Given the description of an element on the screen output the (x, y) to click on. 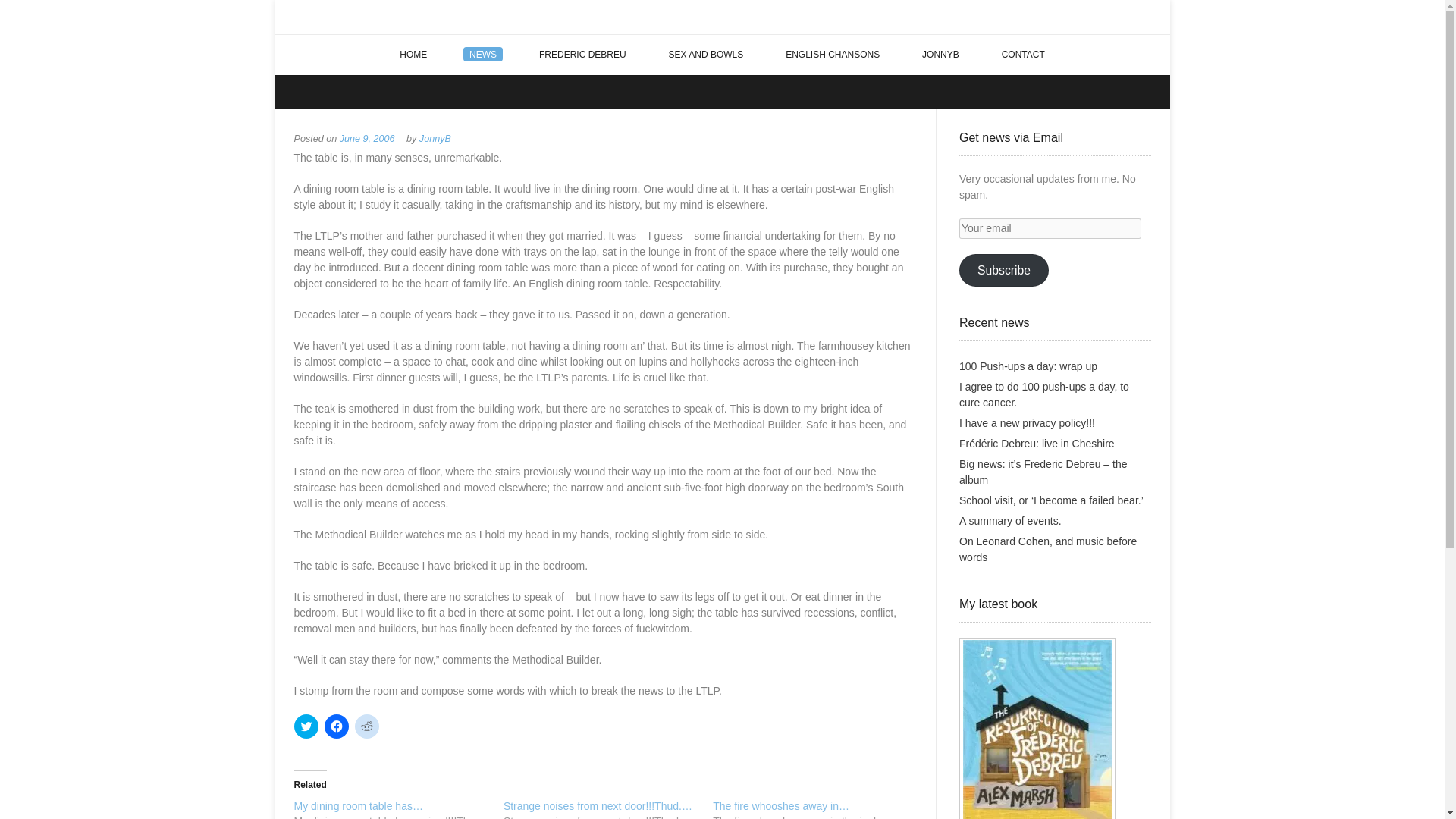
HOME (413, 54)
FREDERIC DEBREU (582, 54)
JonnyB (435, 138)
CONTACT (1023, 54)
I agree to do 100 push-ups a day, to cure cancer. (1044, 394)
A summary of events. (1010, 521)
On Leonard Cohen, and music before words (1048, 549)
NEWS (482, 54)
Click to share on Facebook (336, 726)
ENGLISH CHANSONS (832, 54)
Click to share on Twitter (306, 726)
100 Push-ups a day: wrap up (1028, 366)
June 9, 2006 (366, 138)
Subscribe (1003, 269)
JONNYB (940, 54)
